Given the description of an element on the screen output the (x, y) to click on. 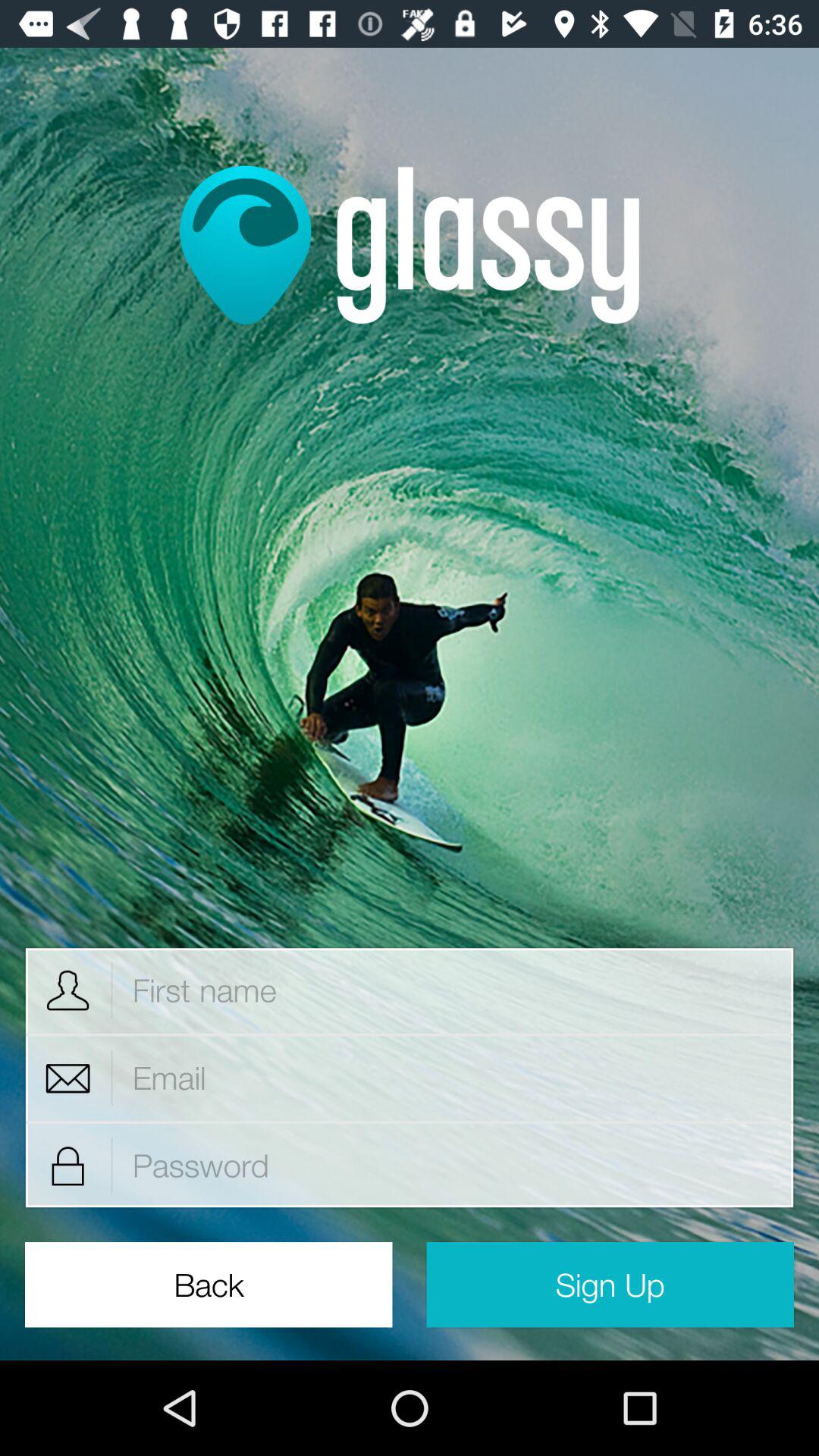
swipe to sign up icon (609, 1284)
